Given the description of an element on the screen output the (x, y) to click on. 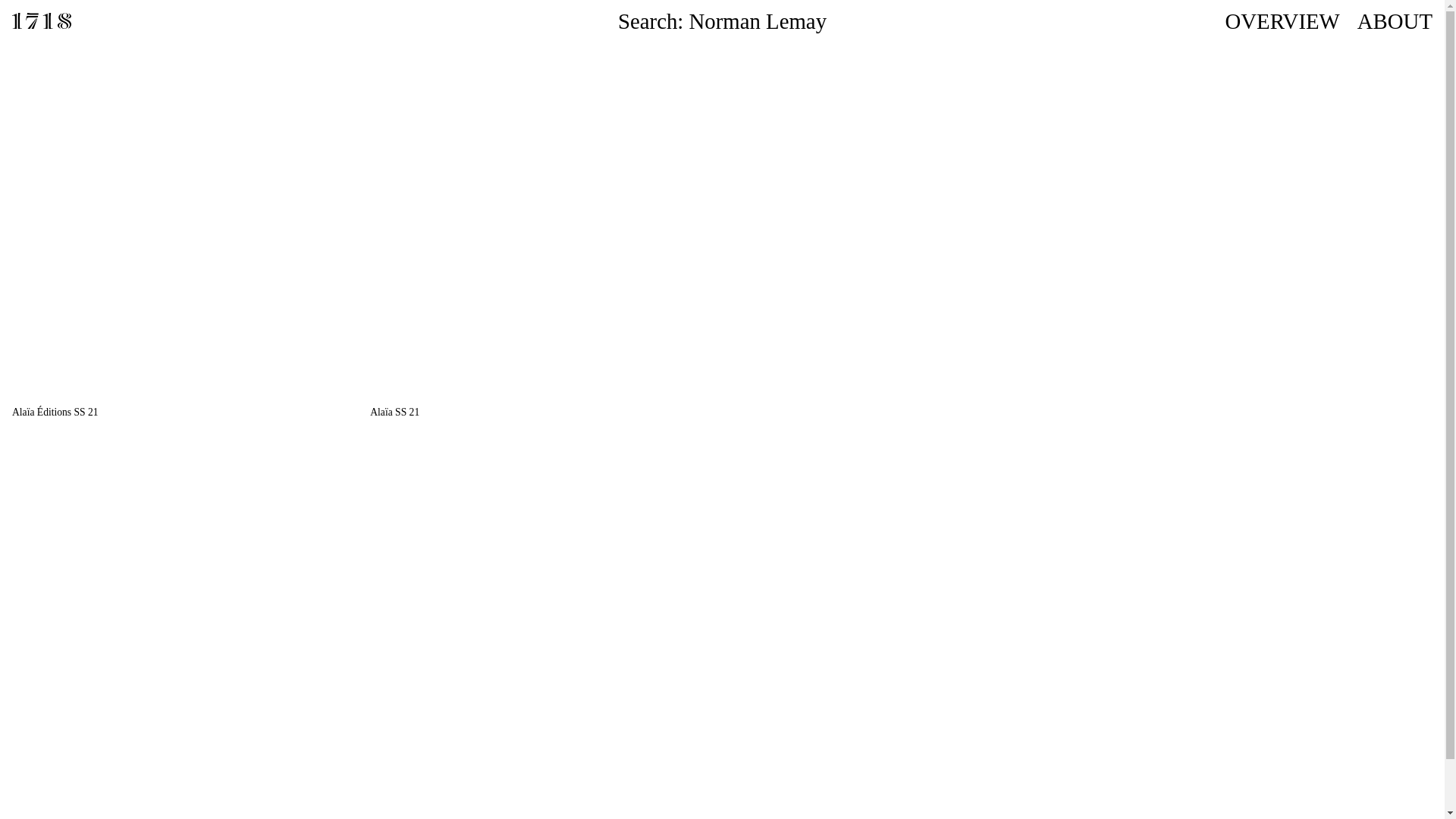
ABOUT Element type: text (1394, 21)
OVERVIEW Element type: text (1282, 21)
